Given the description of an element on the screen output the (x, y) to click on. 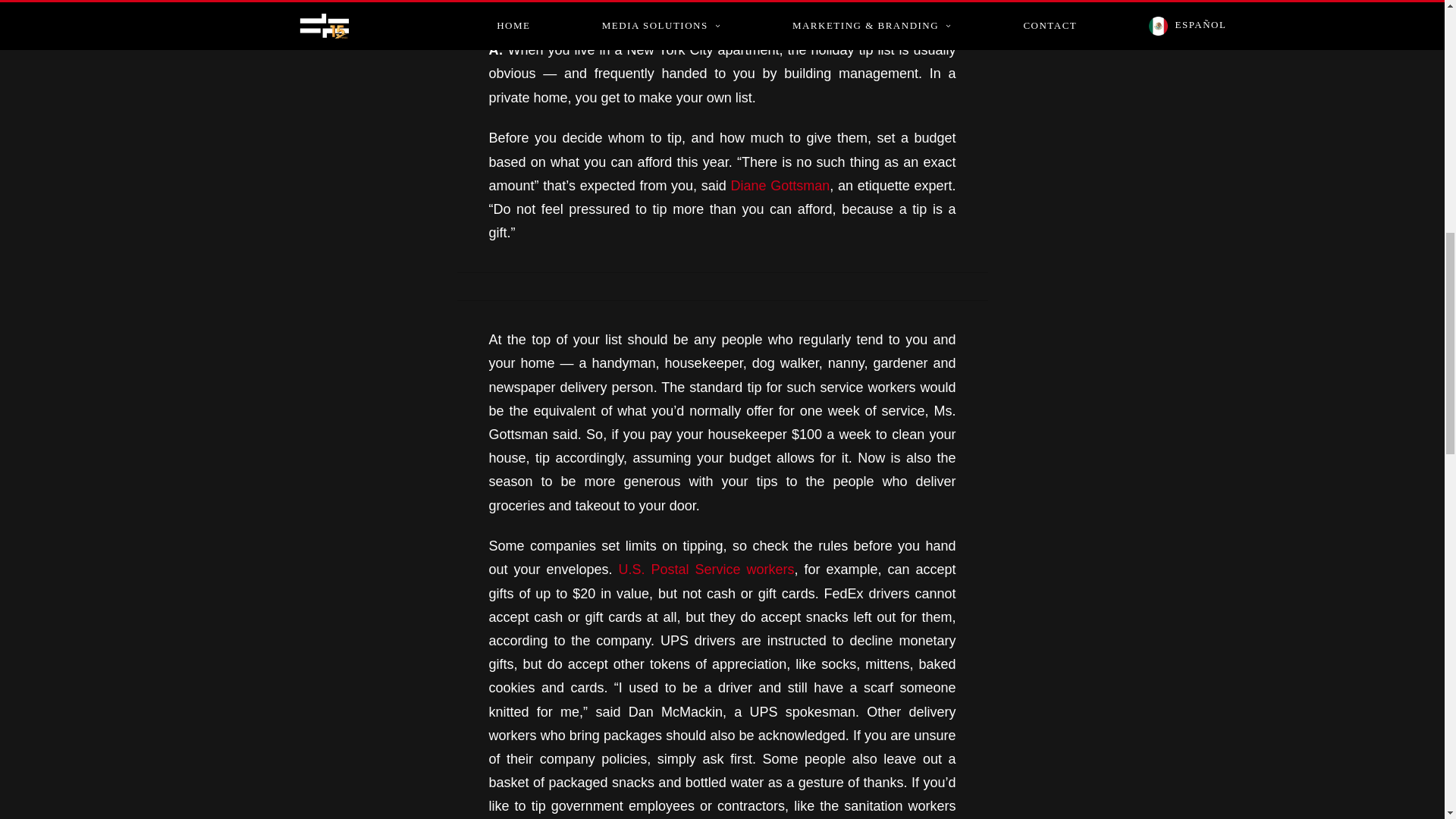
U.S. Postal Service workers (706, 569)
Diane Gottsman (777, 185)
